Given the description of an element on the screen output the (x, y) to click on. 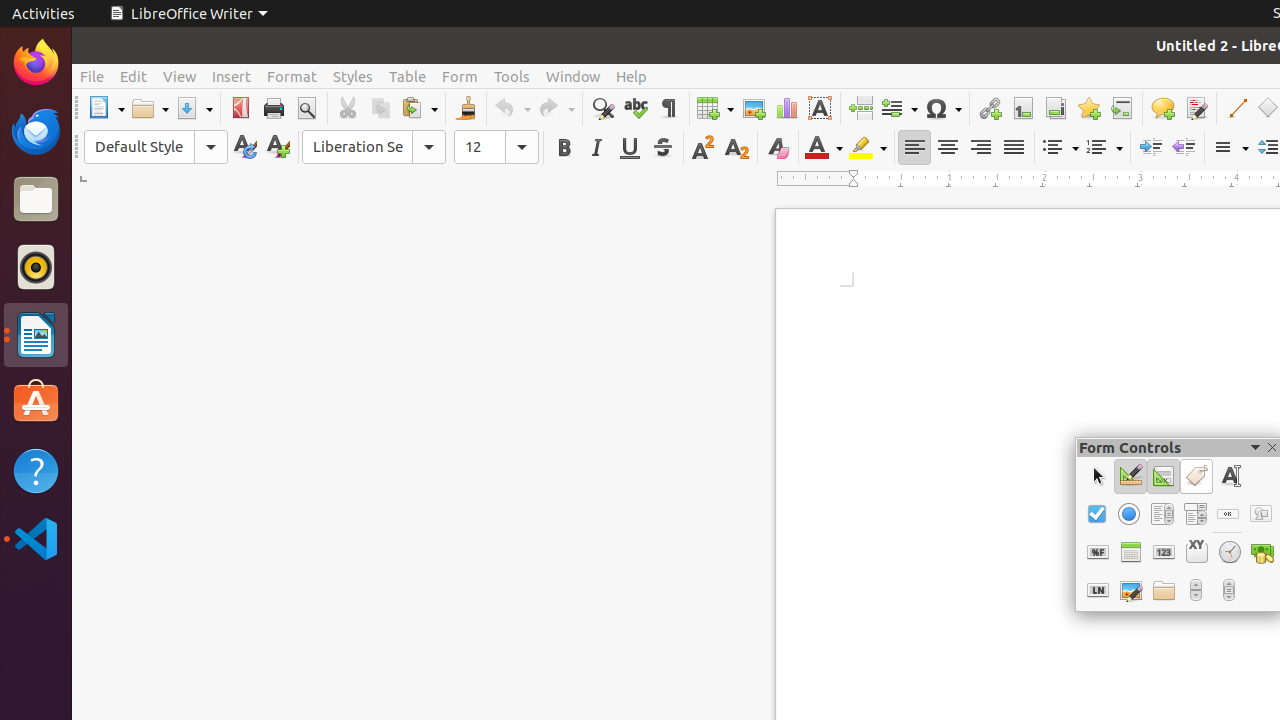
Text Box Element type: toggle-button (1229, 476)
